Given the description of an element on the screen output the (x, y) to click on. 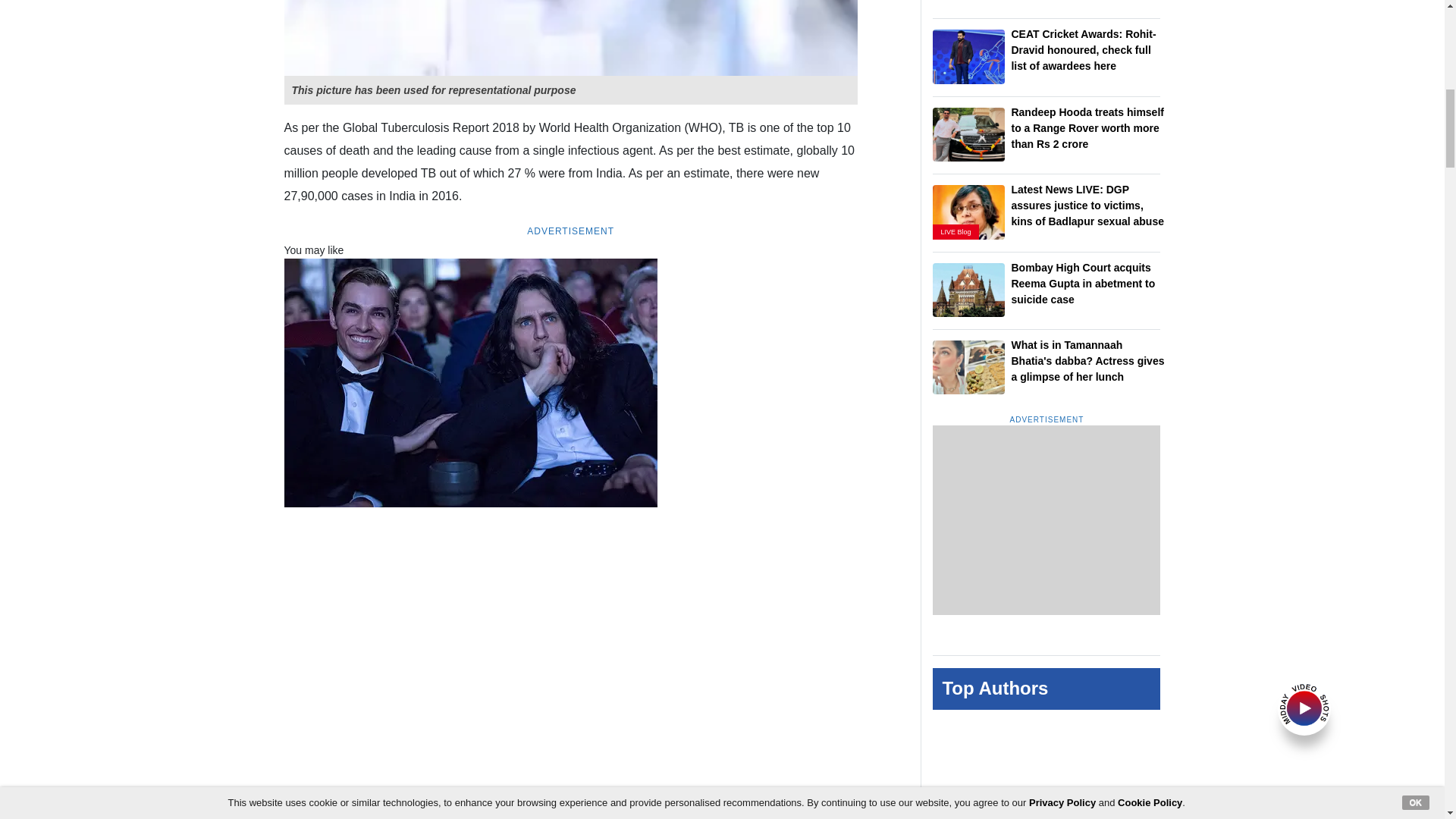
What are the difficulties in tuberculosis control in India? (570, 37)
